Given the description of an element on the screen output the (x, y) to click on. 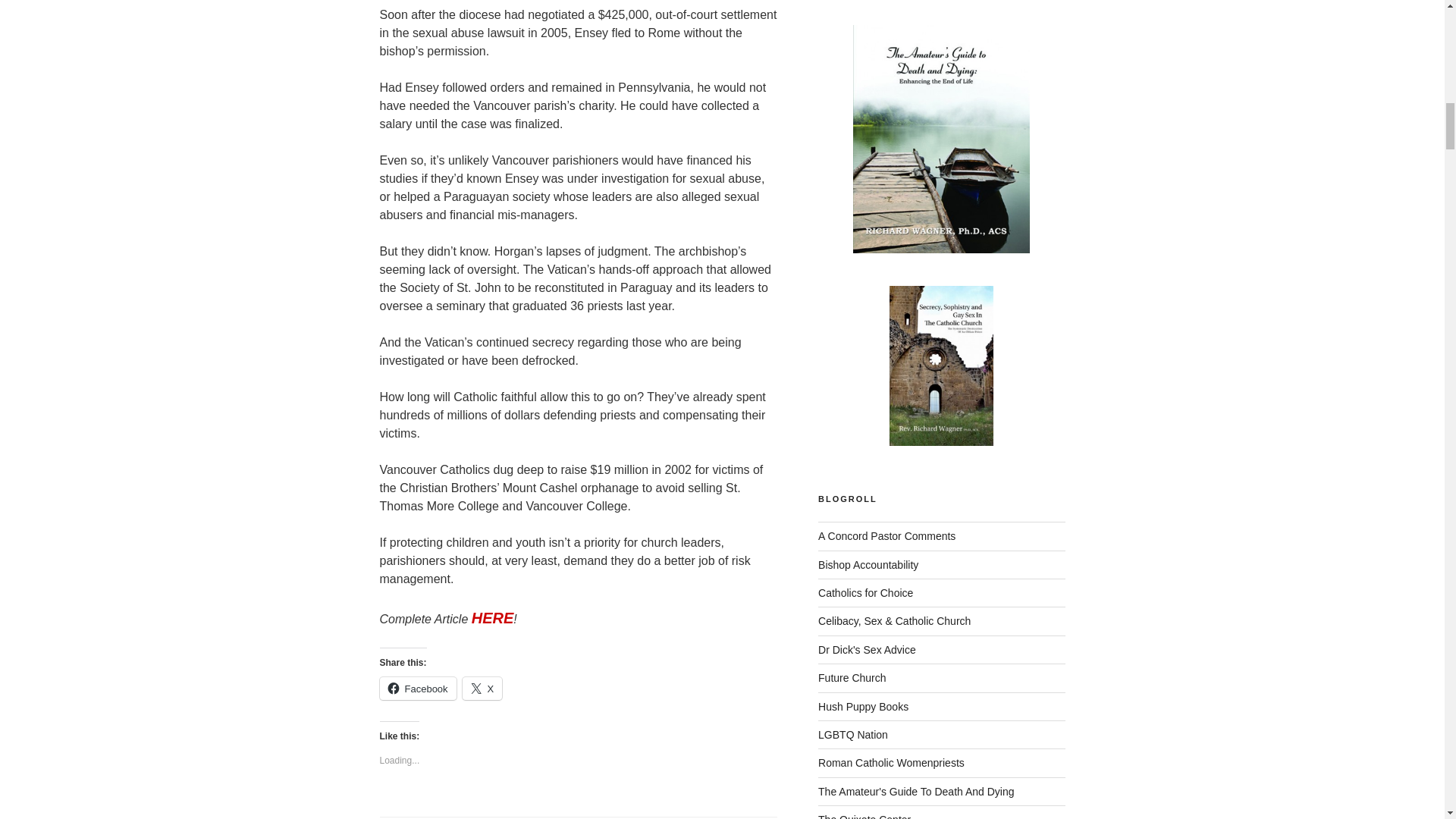
X (482, 688)
Facebook (416, 688)
Click to share on X (482, 688)
Hush Puppy Books (863, 706)
A Concord Pastor Comments (886, 535)
Click to share on Facebook (416, 688)
Dr Dick's Sex Advice (866, 649)
Catholics for Choice (865, 592)
Bishop Accountability (868, 564)
Future Church (851, 677)
